Given the description of an element on the screen output the (x, y) to click on. 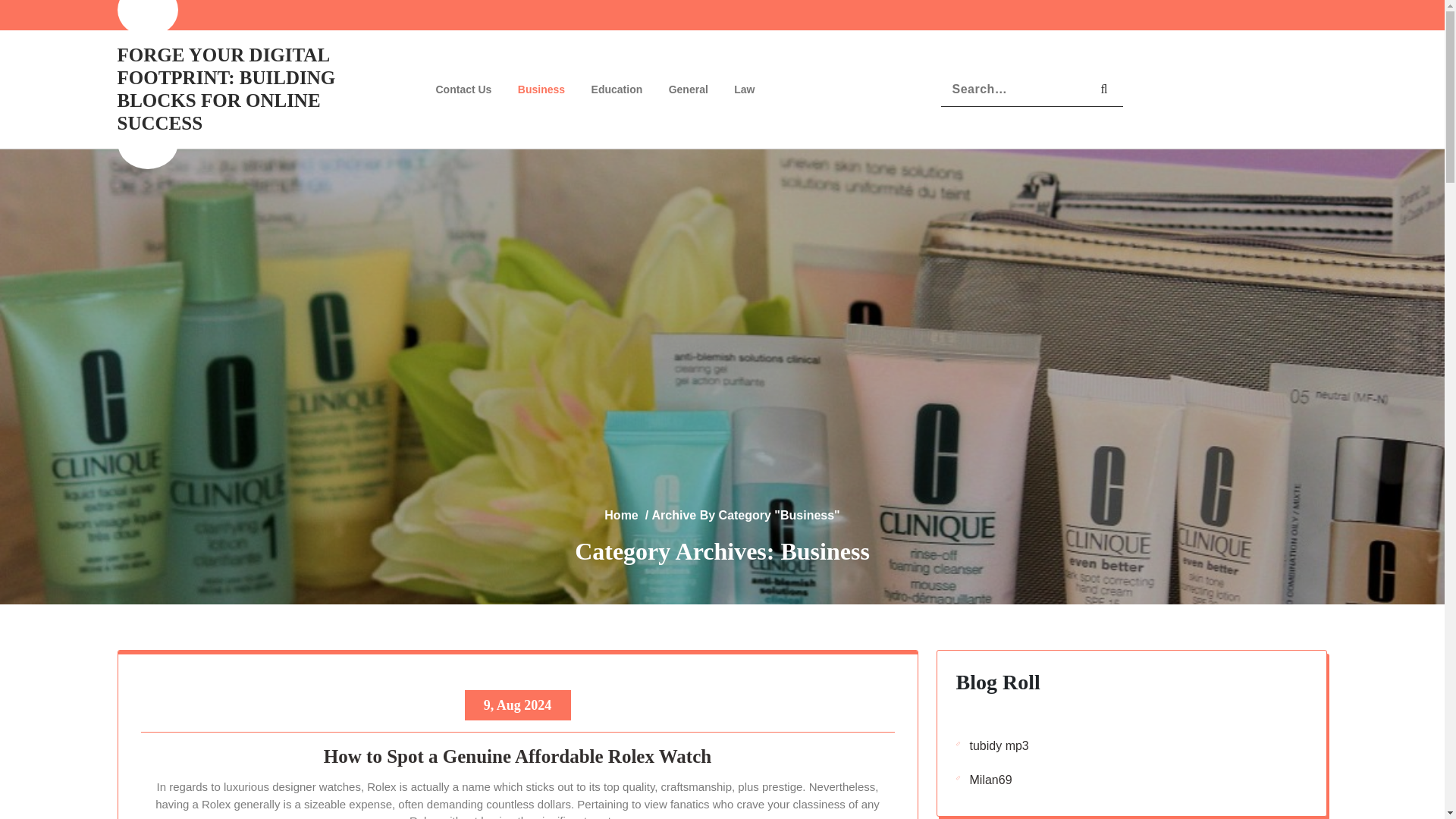
General (688, 89)
Business (541, 89)
Education (616, 89)
Law (743, 89)
Home (620, 514)
Search (1104, 89)
Contact Us (464, 89)
How to Spot a Genuine Affordable Rolex Watch (518, 759)
